Given the description of an element on the screen output the (x, y) to click on. 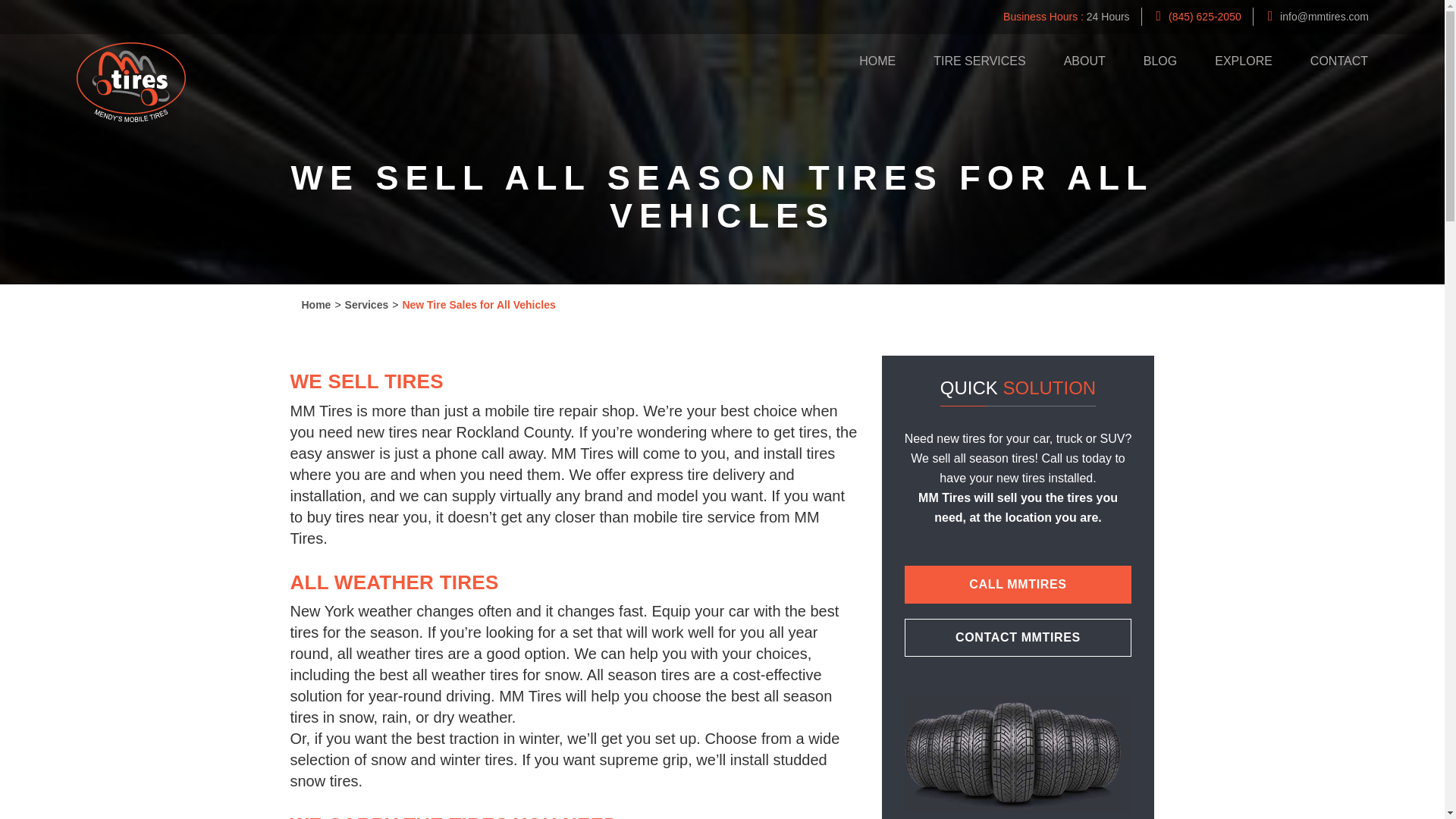
Services (366, 304)
New Tire Sales for All Vehicles (477, 304)
Services (366, 304)
CONTACT MMTIRES (1017, 637)
Home (316, 304)
ABOUT (1084, 61)
CONTACT (1329, 61)
EXPLORE (1243, 64)
TIRE SERVICES (979, 64)
CALL MMTIRES (1017, 584)
